Given the description of an element on the screen output the (x, y) to click on. 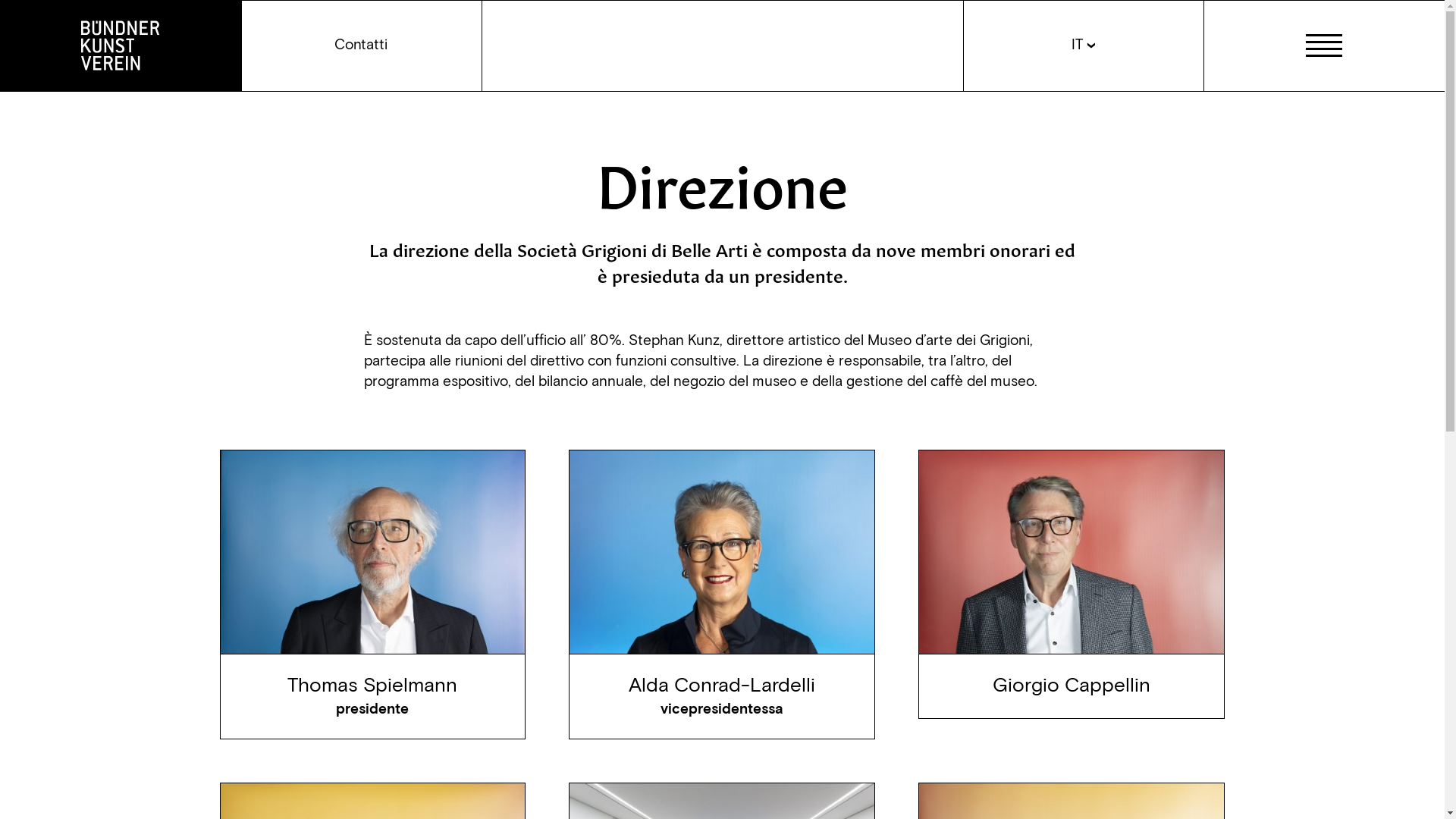
Contatti Element type: text (361, 45)
IT Element type: text (1083, 45)
